Given the description of an element on the screen output the (x, y) to click on. 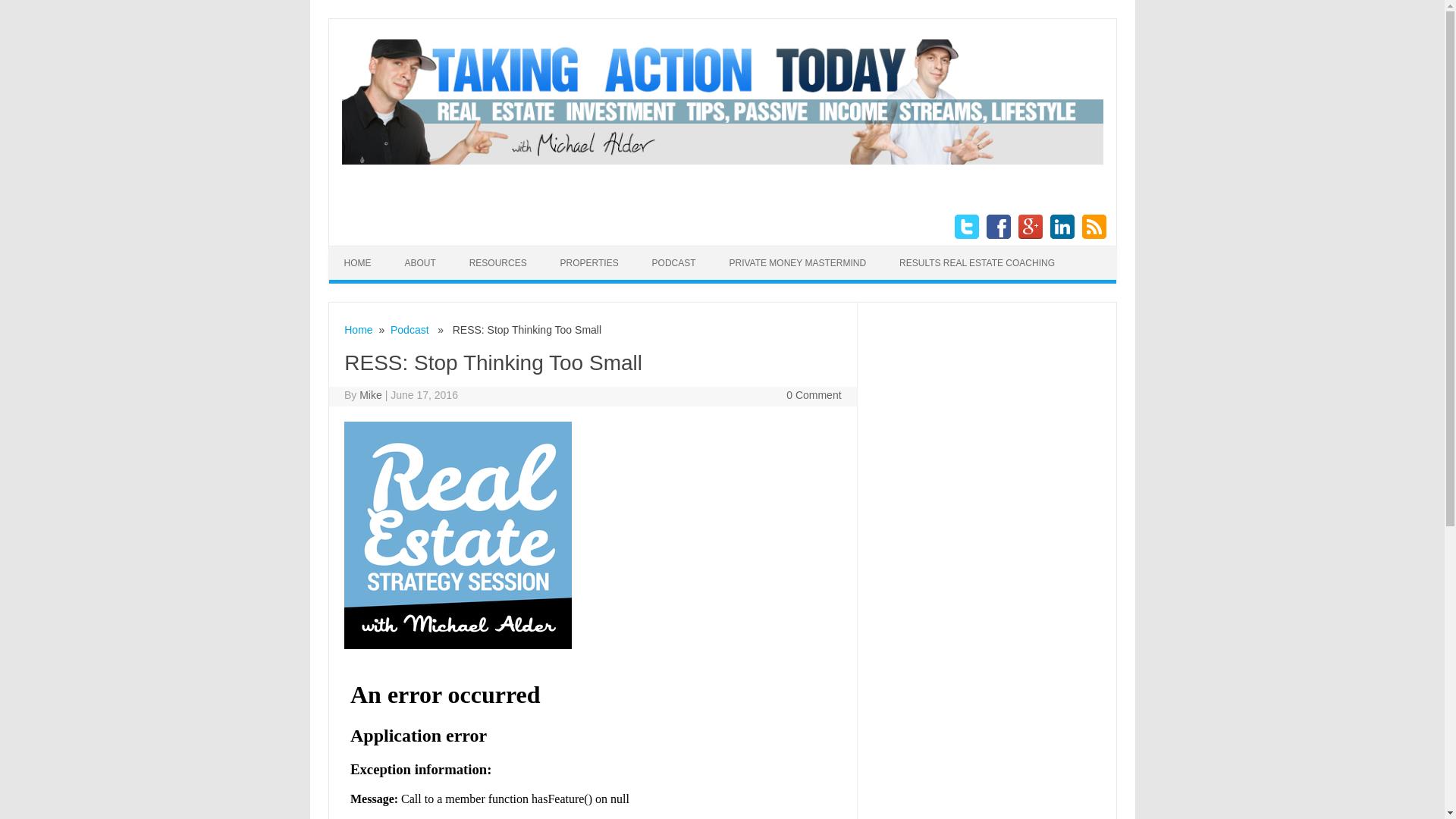
Skip to content (757, 250)
Podcast (409, 329)
RESULTS REAL ESTATE COACHING (976, 263)
Home (357, 329)
PROPERTIES (588, 263)
HOME (358, 263)
PRIVATE MONEY MASTERMIND (796, 263)
Michael Alder (721, 160)
0 Comment (813, 395)
Mike (370, 395)
